Given the description of an element on the screen output the (x, y) to click on. 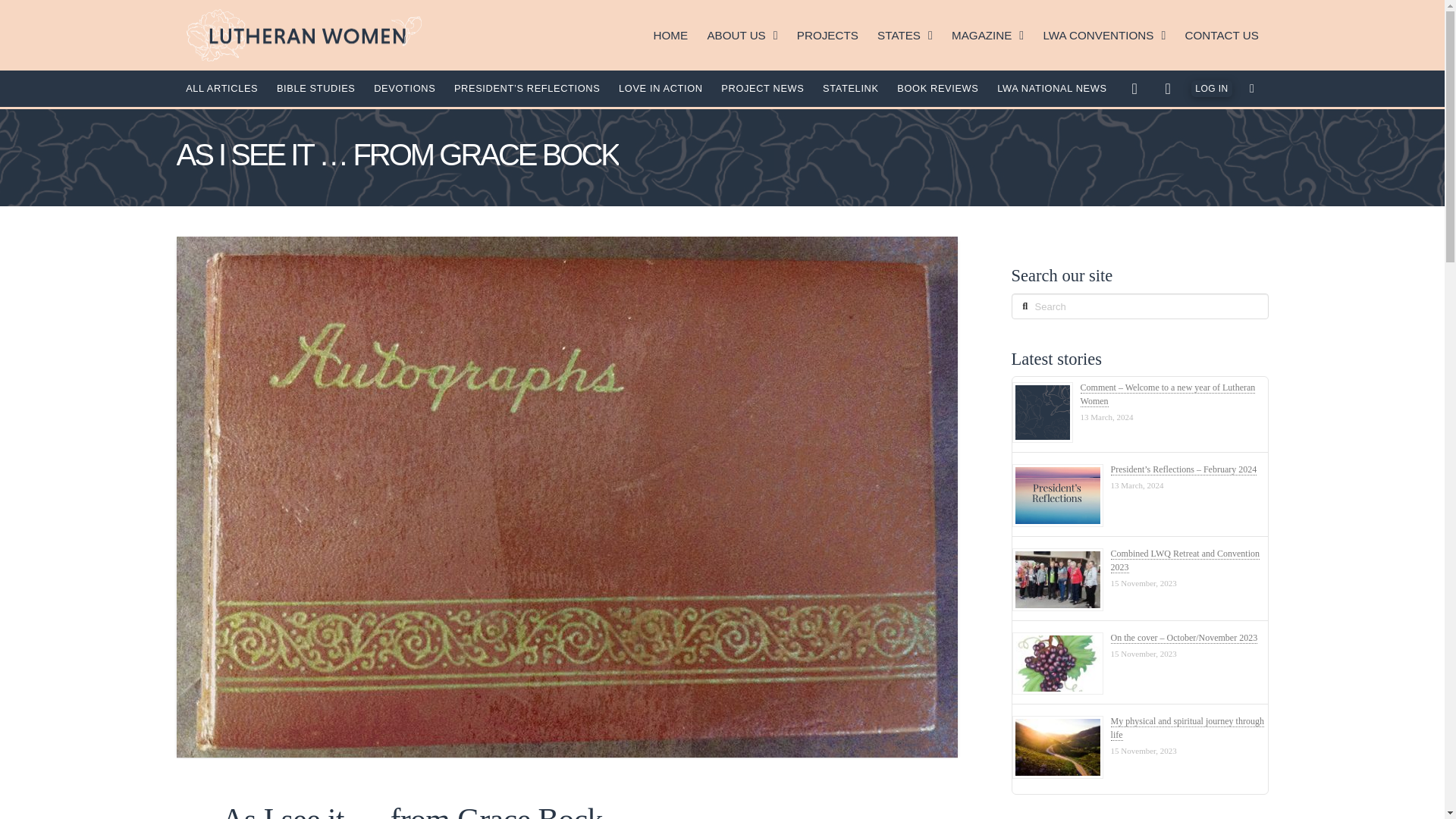
DEVOTIONS (405, 88)
LWA CONVENTIONS (1103, 35)
CONTACT US (1221, 35)
LOVE IN ACTION (659, 88)
LWA NATIONAL NEWS (1051, 88)
PROJECTS (827, 35)
ALL ARTICLES (221, 88)
BOOK REVIEWS (938, 88)
PROJECT NEWS (762, 88)
ABOUT US (742, 35)
MAGAZINE (987, 35)
BIBLE STUDIES (315, 88)
LOG IN (1211, 88)
STATES (904, 35)
STATELINK (849, 88)
